Given the description of an element on the screen output the (x, y) to click on. 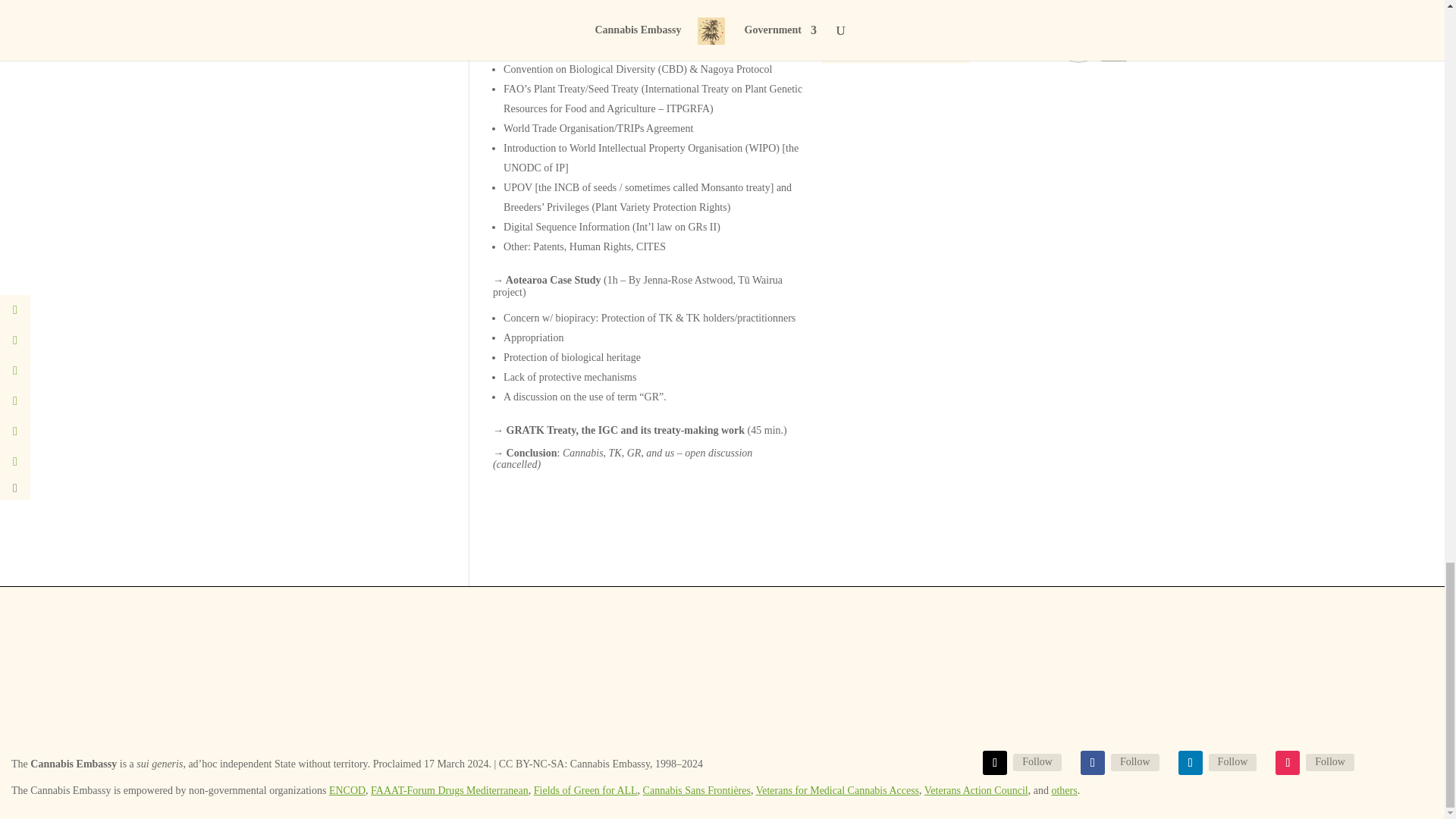
European Coalition for Just and Effective Drug Policies (347, 790)
Follow on X (994, 762)
Instagram (1330, 761)
Follow on Facebook (1092, 762)
X (1037, 761)
Follow on Instagram (1287, 762)
Follow on LinkedIn (1189, 762)
Facebook (1134, 761)
LinkedIn (1232, 761)
